Given the description of an element on the screen output the (x, y) to click on. 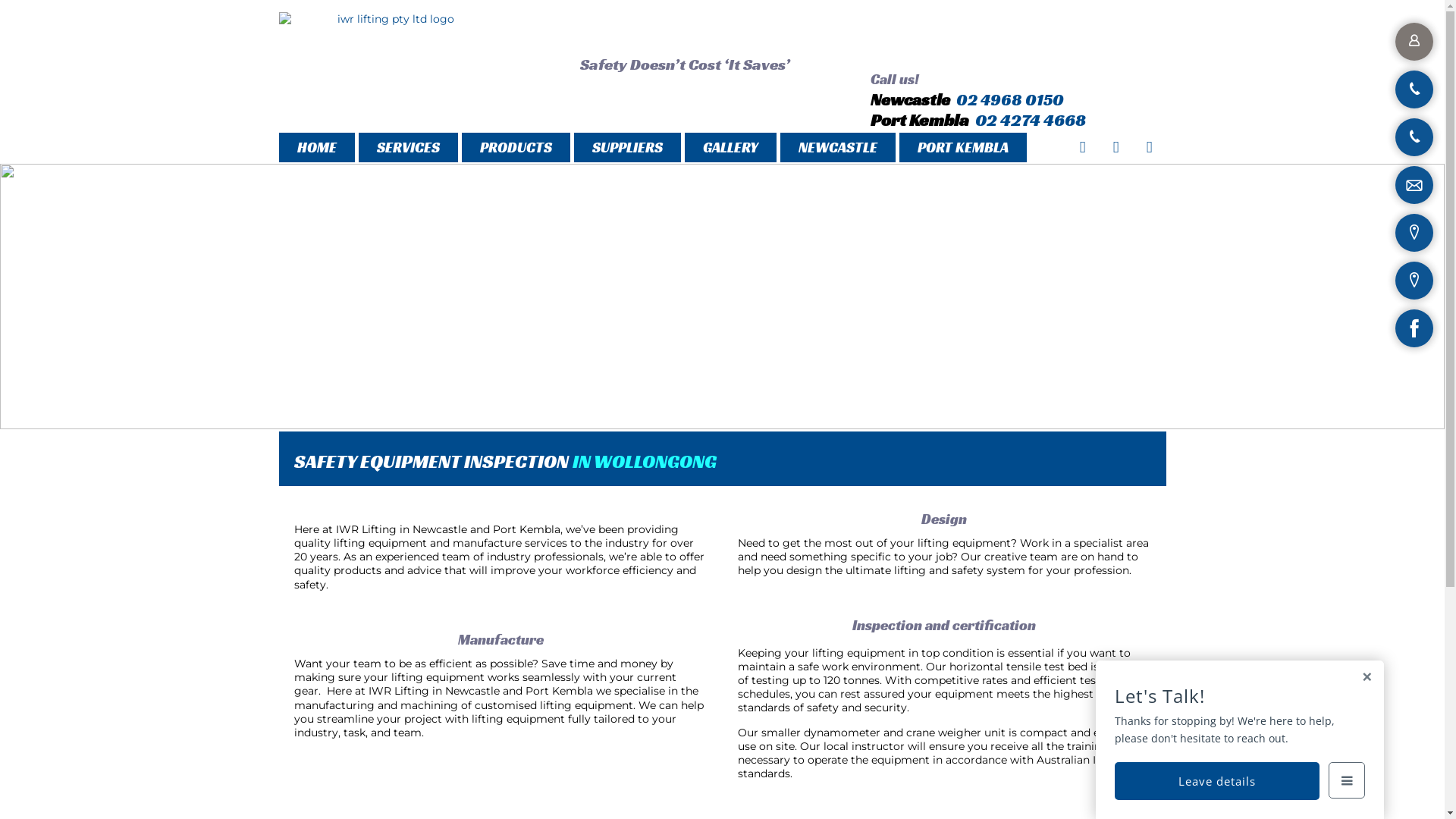
PRODUCTS Element type: text (515, 146)
SUPPLIERS Element type: text (626, 146)
NEWCASTLE Element type: text (836, 146)
02 4274 4668 Element type: text (1030, 119)
Leave details Element type: text (1216, 781)
HOME Element type: text (316, 146)
SERVICES Element type: text (407, 146)
GALLERY Element type: text (729, 146)
iwr lifting pty ltd logo Element type: hover (390, 18)
PORT KEMBLA Element type: text (962, 146)
02 4968 0150 Element type: text (1009, 99)
